Given the description of an element on the screen output the (x, y) to click on. 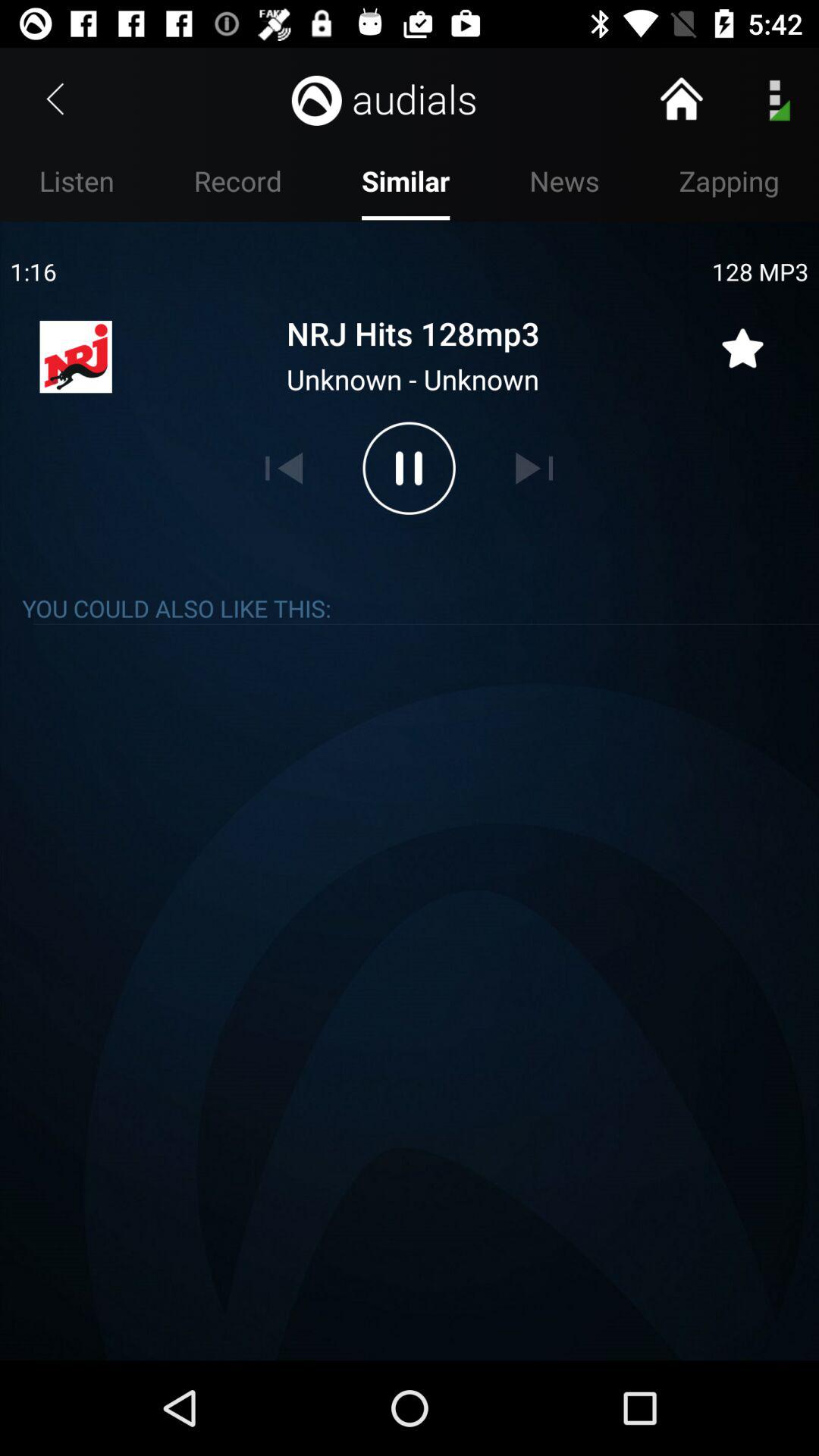
go to home (681, 98)
